Given the description of an element on the screen output the (x, y) to click on. 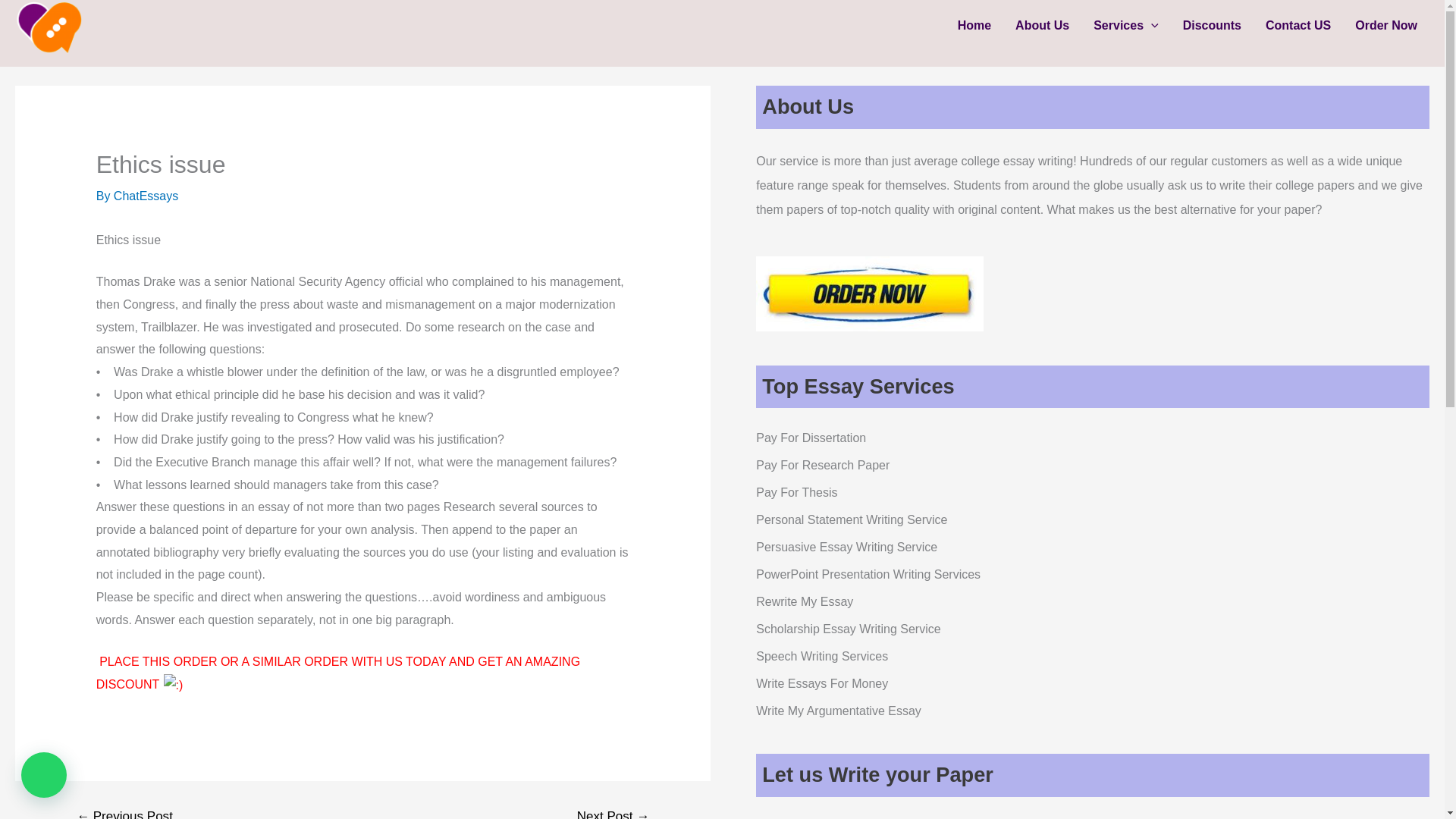
About Us (1042, 25)
Contact US (1297, 25)
Services (1125, 25)
Order Now (1385, 25)
Discounts (1211, 25)
Home (973, 25)
View all posts by ChatEssays (145, 195)
